Given the description of an element on the screen output the (x, y) to click on. 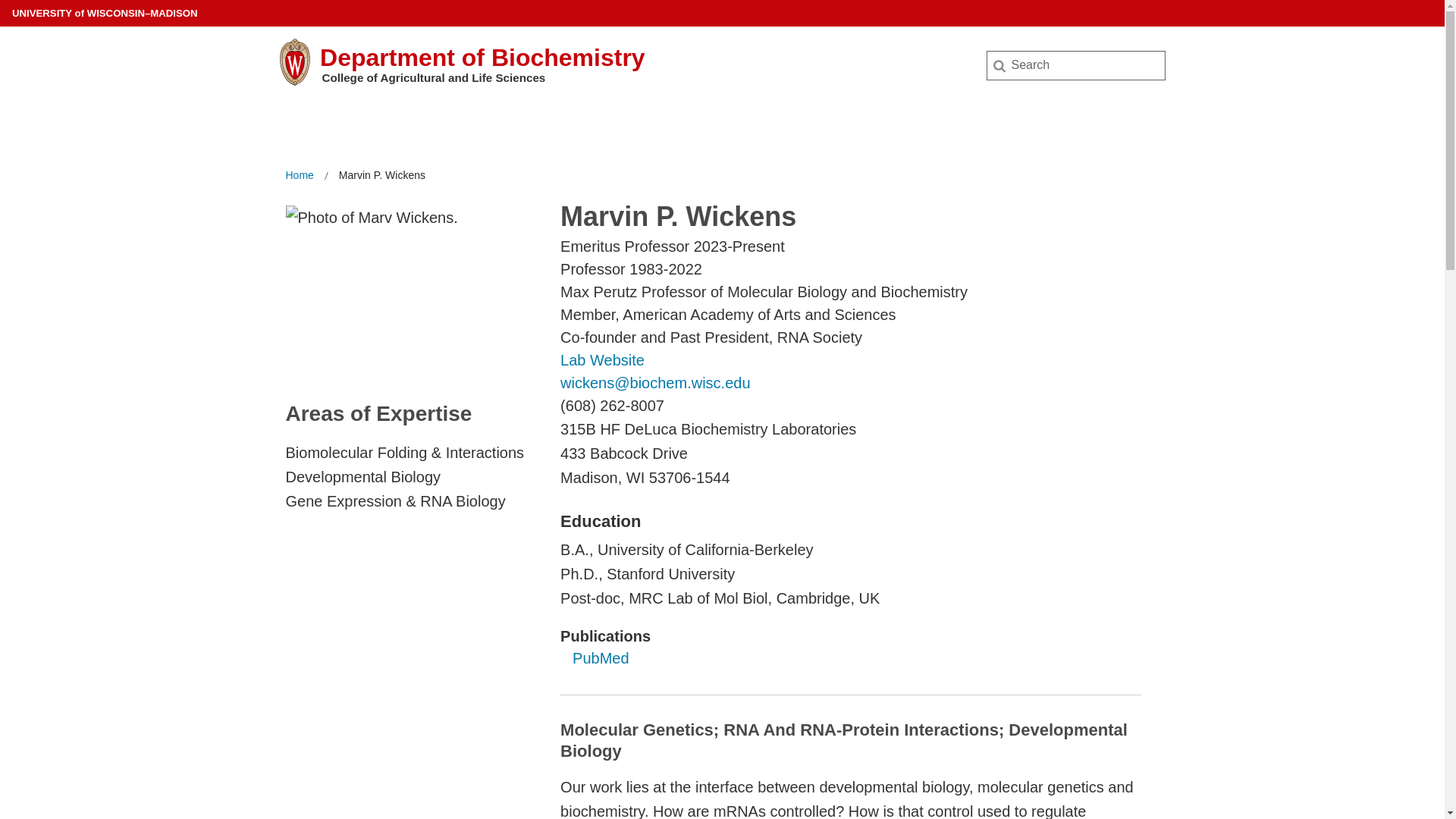
Marvin P. Wickens (382, 175)
Skip to main content (3, 3)
Home (299, 175)
Home (299, 175)
Lab Website (602, 360)
Marvin P. Wickens (382, 175)
College of Agricultural and Life Sciences (432, 77)
Department of Biochemistry (482, 57)
Search (37, 16)
PubMed (600, 658)
